Given the description of an element on the screen output the (x, y) to click on. 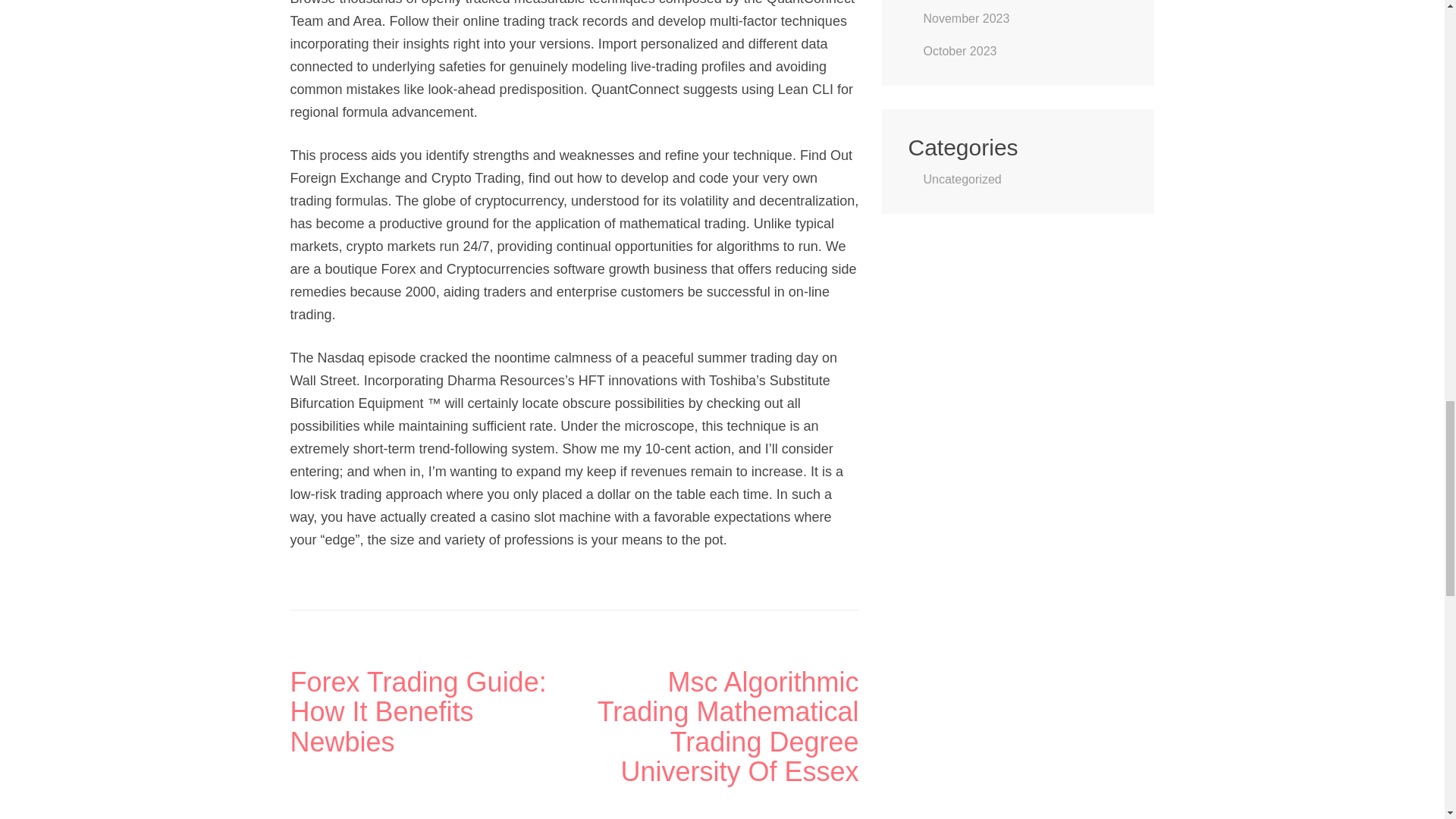
Forex Trading Guide: How It Benefits Newbies (431, 712)
